Given the description of an element on the screen output the (x, y) to click on. 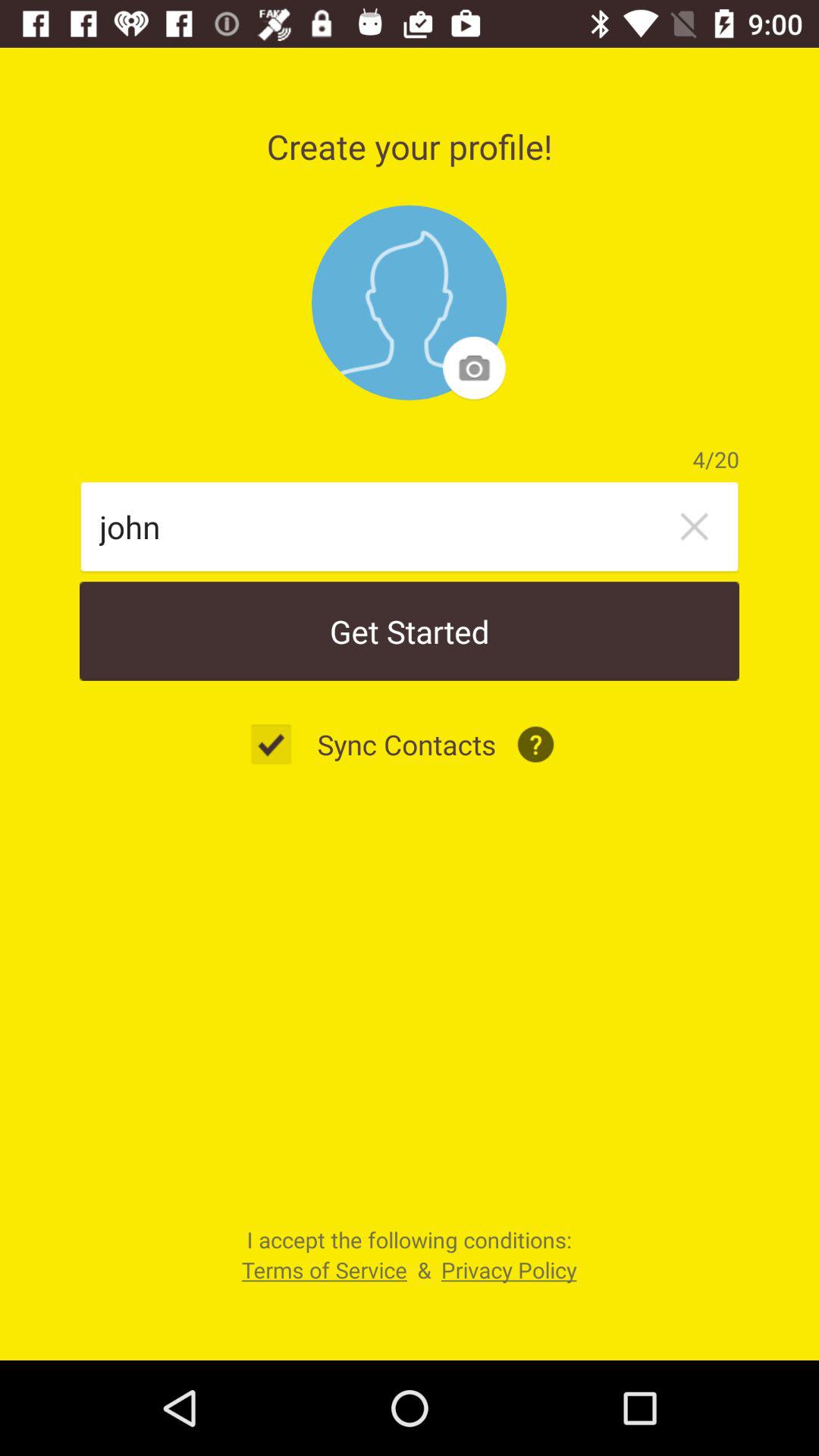
tap item next to john icon (694, 526)
